Given the description of an element on the screen output the (x, y) to click on. 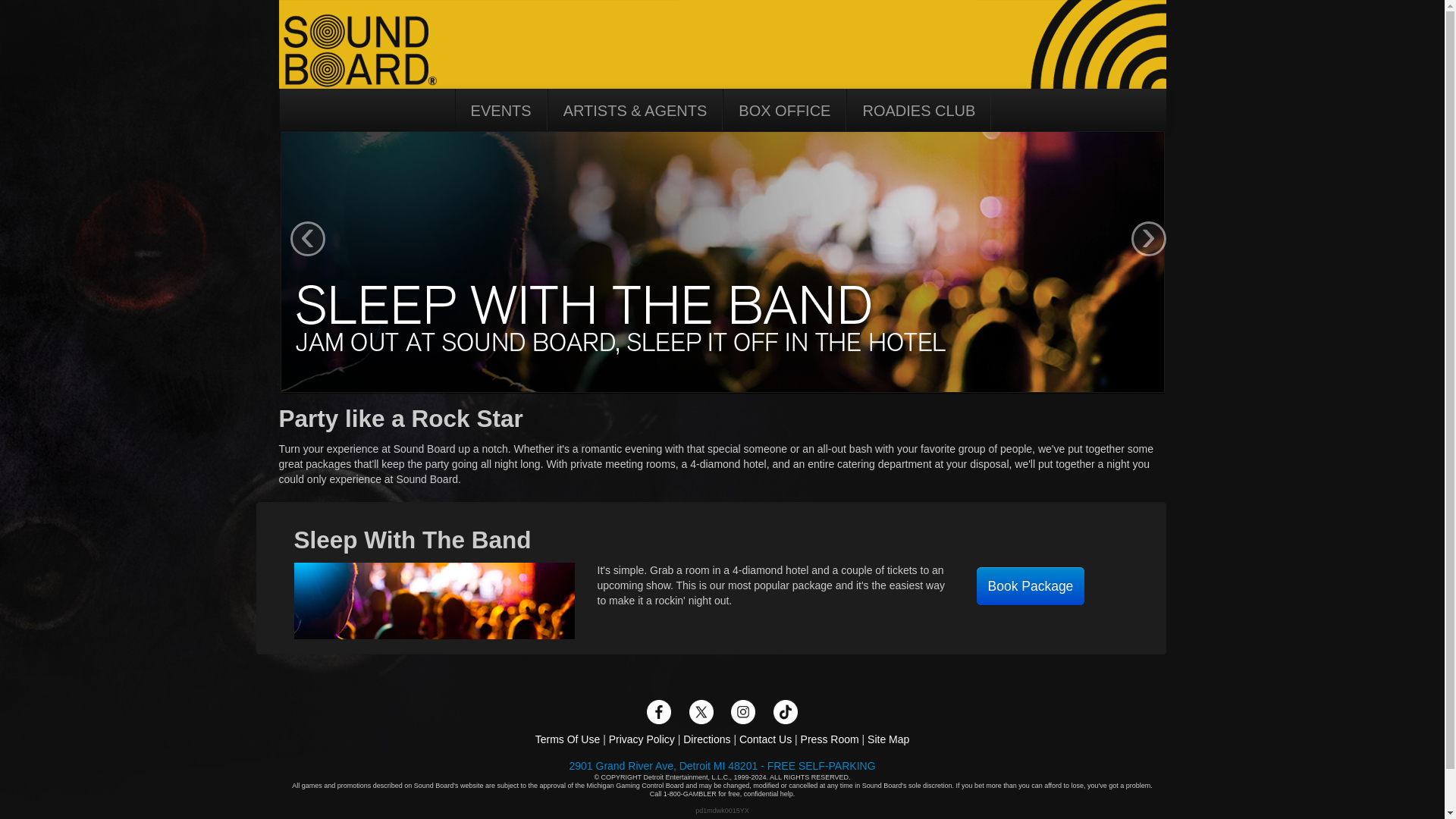
Book Package (1030, 586)
Press Room (829, 739)
Site Map (887, 739)
Privacy Policy (641, 739)
Terms Of Use (567, 739)
Contact Us (765, 739)
2901 Grand River Ave, Detroit MI 48201 - FREE SELF-PARKING (722, 766)
ROADIES CLUB (918, 111)
BOX OFFICE (784, 111)
EVENTS (501, 111)
Directions (706, 739)
